Given the description of an element on the screen output the (x, y) to click on. 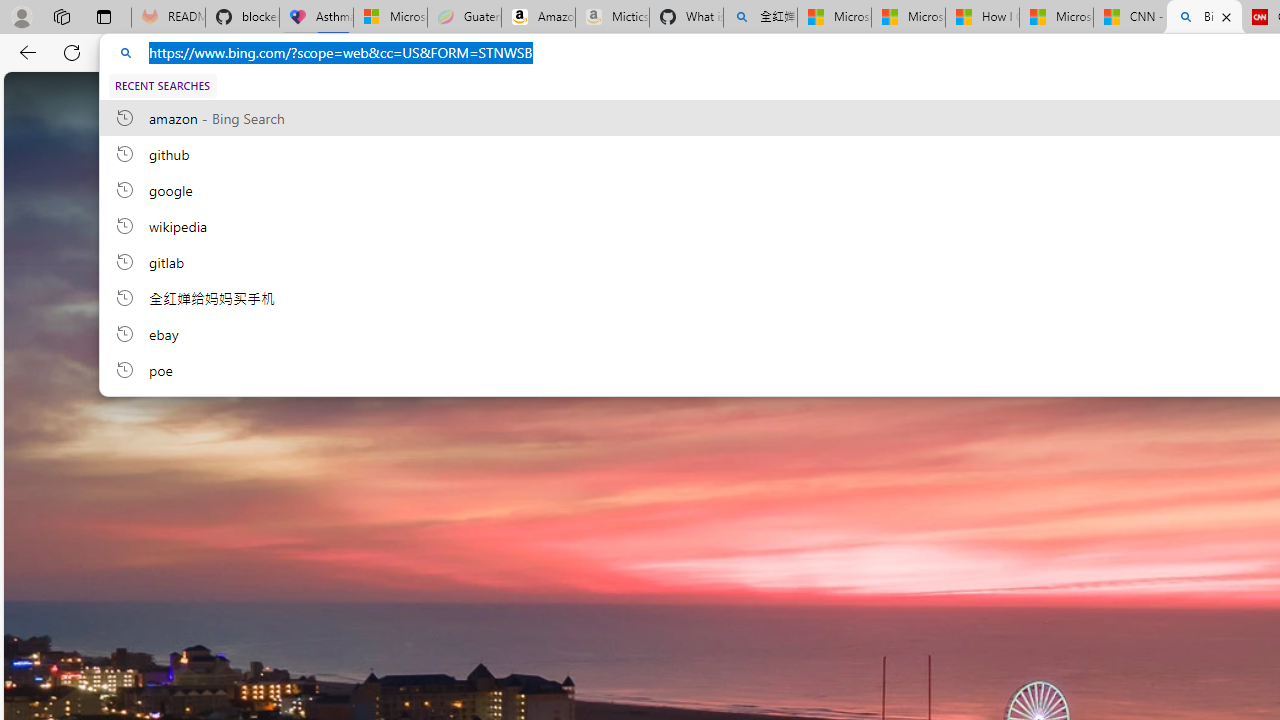
Close tab (1226, 16)
Personal Profile (21, 16)
Microsoft-Report a Concern to Bing (390, 17)
Videos (639, 95)
Maps (800, 95)
Images (562, 95)
Bing (1204, 17)
More (929, 91)
Microsoft Start (1056, 17)
Videos (639, 95)
CNN - MSN (1130, 17)
News (868, 95)
